Given the description of an element on the screen output the (x, y) to click on. 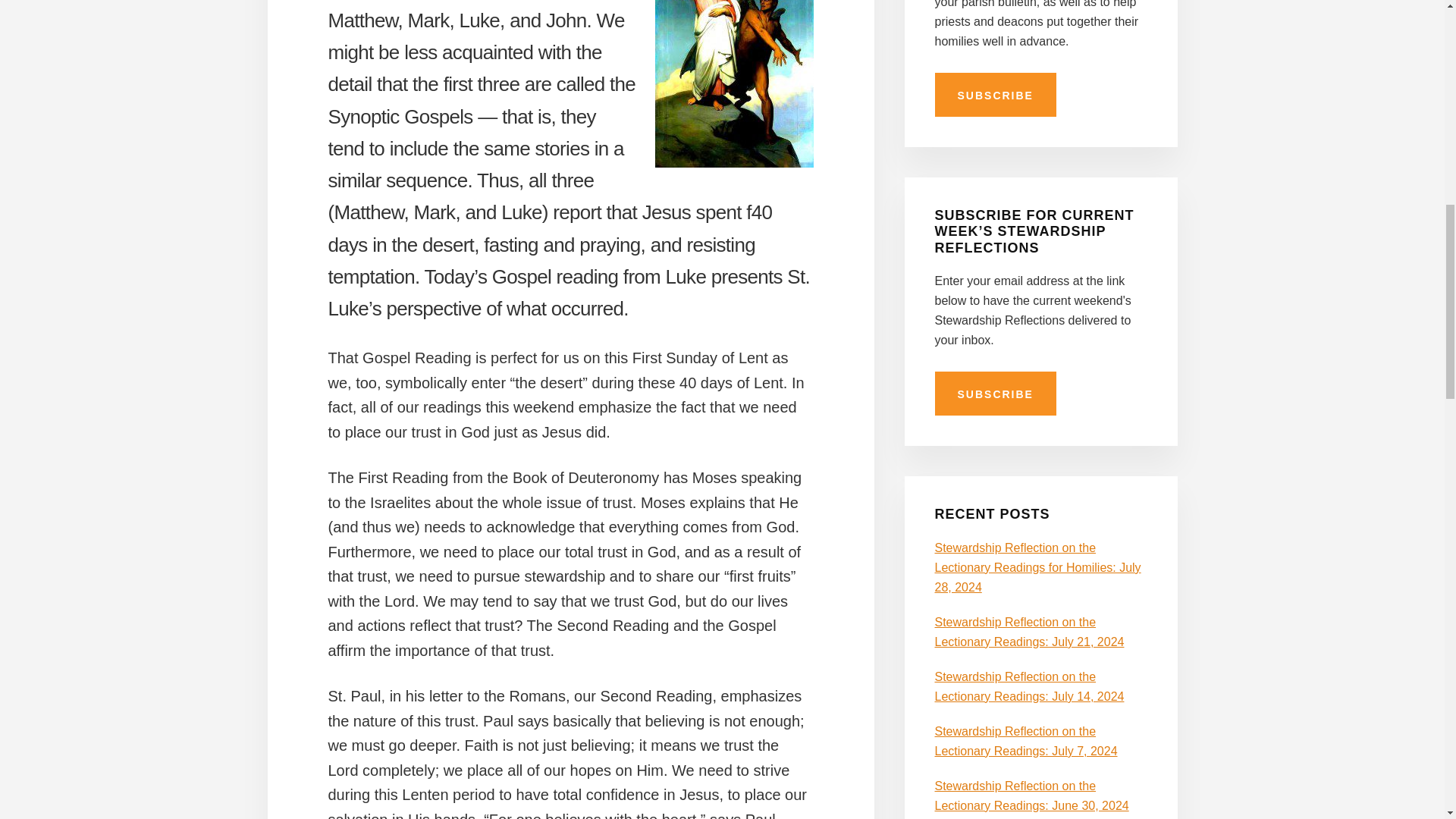
SUBSCRIBE (994, 94)
SUBSCRIBE (994, 393)
